Given the description of an element on the screen output the (x, y) to click on. 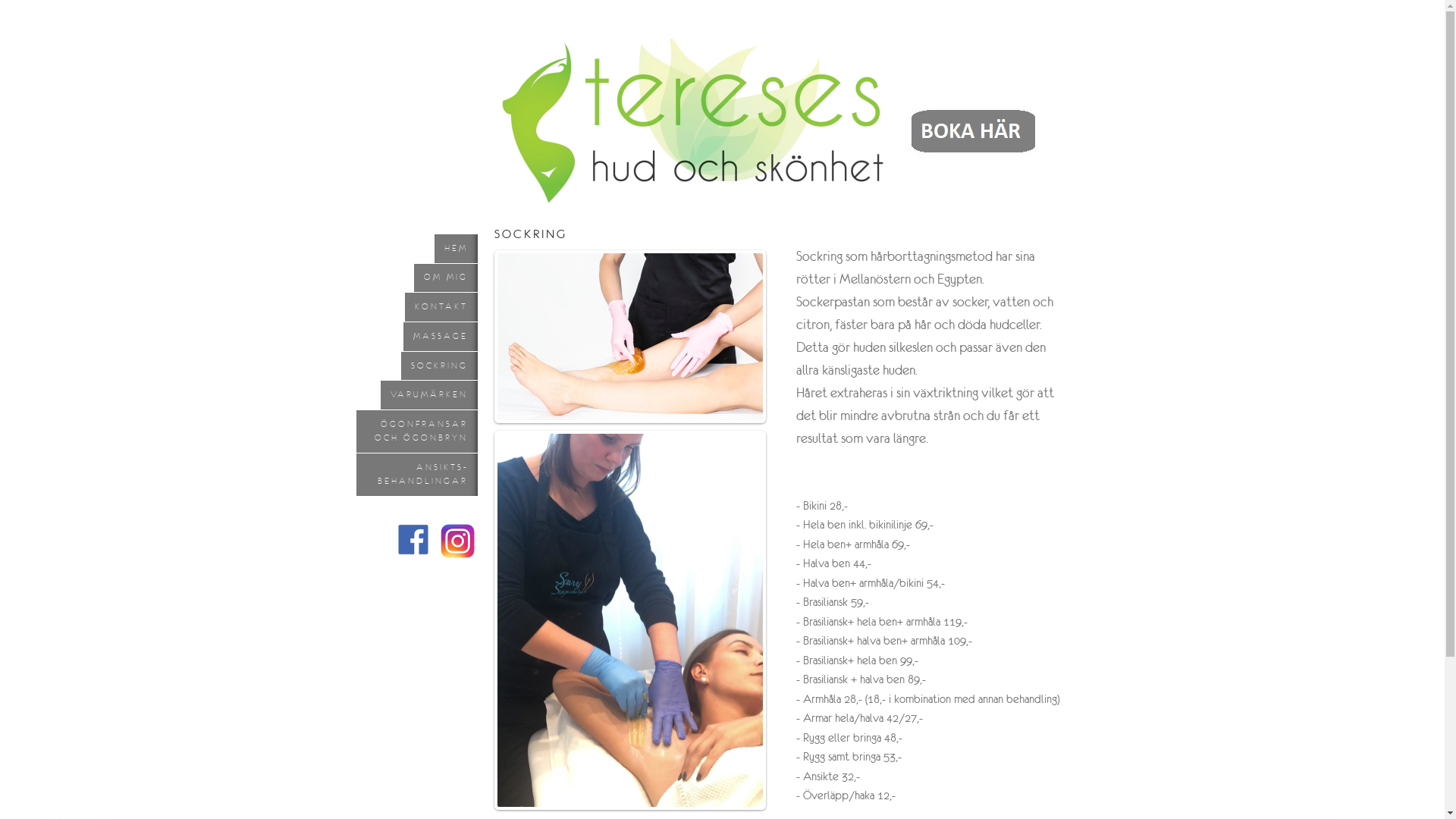
OM MIG Element type: text (445, 277)
HEM Element type: text (454, 248)
MASSAGE Element type: text (440, 336)
ANSIKTS-BEHANDLINGAR Element type: text (416, 474)
KONTAKT Element type: text (440, 306)
SOCKRING Element type: text (438, 365)
